Given the description of an element on the screen output the (x, y) to click on. 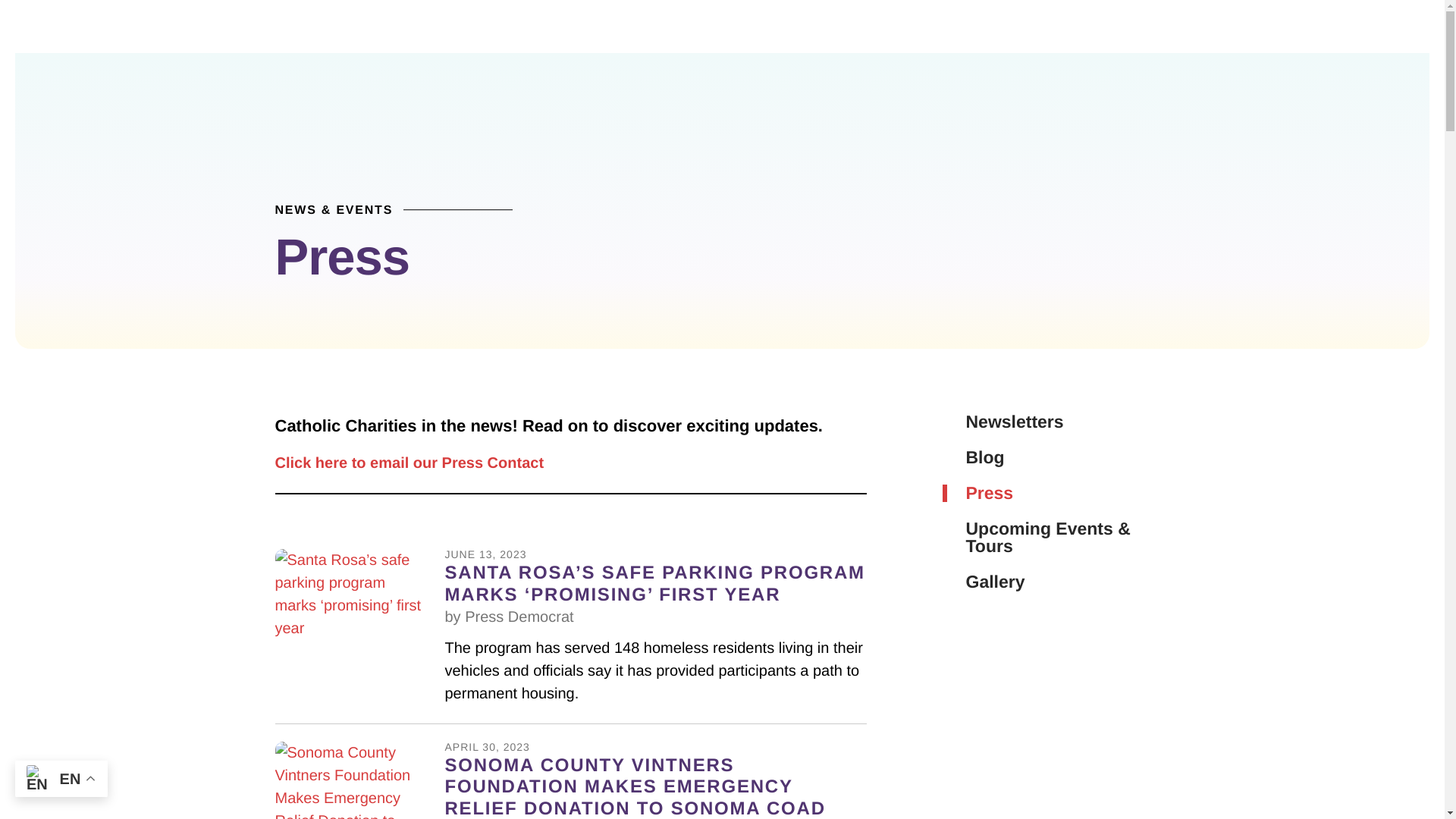
Blog (1055, 457)
Gallery (1055, 581)
Click here to email our Press Contact (409, 463)
Press (1055, 493)
Newsletters (1055, 421)
